Given the description of an element on the screen output the (x, y) to click on. 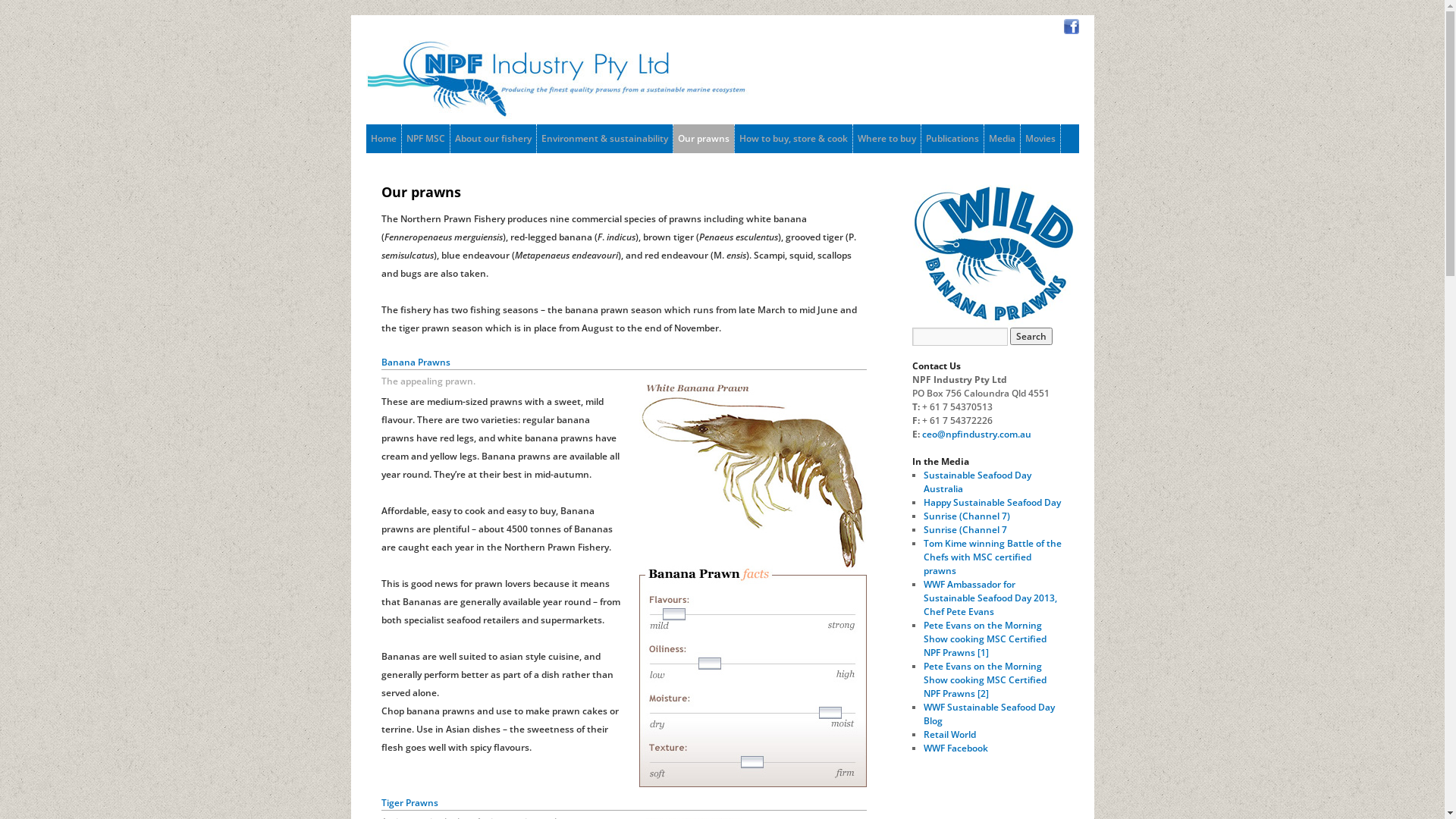
About our fishery Element type: text (493, 138)
Movies Element type: text (1040, 138)
Retail World Element type: text (949, 734)
WWF Facebook Element type: text (955, 747)
Sunrise (Channel 7) Element type: text (966, 515)
Sunrise (Channel 7 Element type: text (965, 529)
Publications Element type: text (951, 138)
Sustainable Seafood Day Australia Element type: text (977, 481)
Media Element type: text (1001, 138)
Environment & sustainability Element type: text (604, 138)
Where to buy Element type: text (885, 138)
Home Element type: text (382, 138)
ceo@npfindustry.com.au Element type: text (976, 433)
WWF Sustainable Seafood Day Blog Element type: text (988, 713)
How to buy, store & cook Element type: text (792, 138)
Happy Sustainable Seafood Day Element type: text (991, 501)
Banana Prawns Element type: hover (752, 582)
Search Element type: text (1031, 336)
Our prawns Element type: text (703, 138)
NPF MSC Element type: text (425, 138)
